Given the description of an element on the screen output the (x, y) to click on. 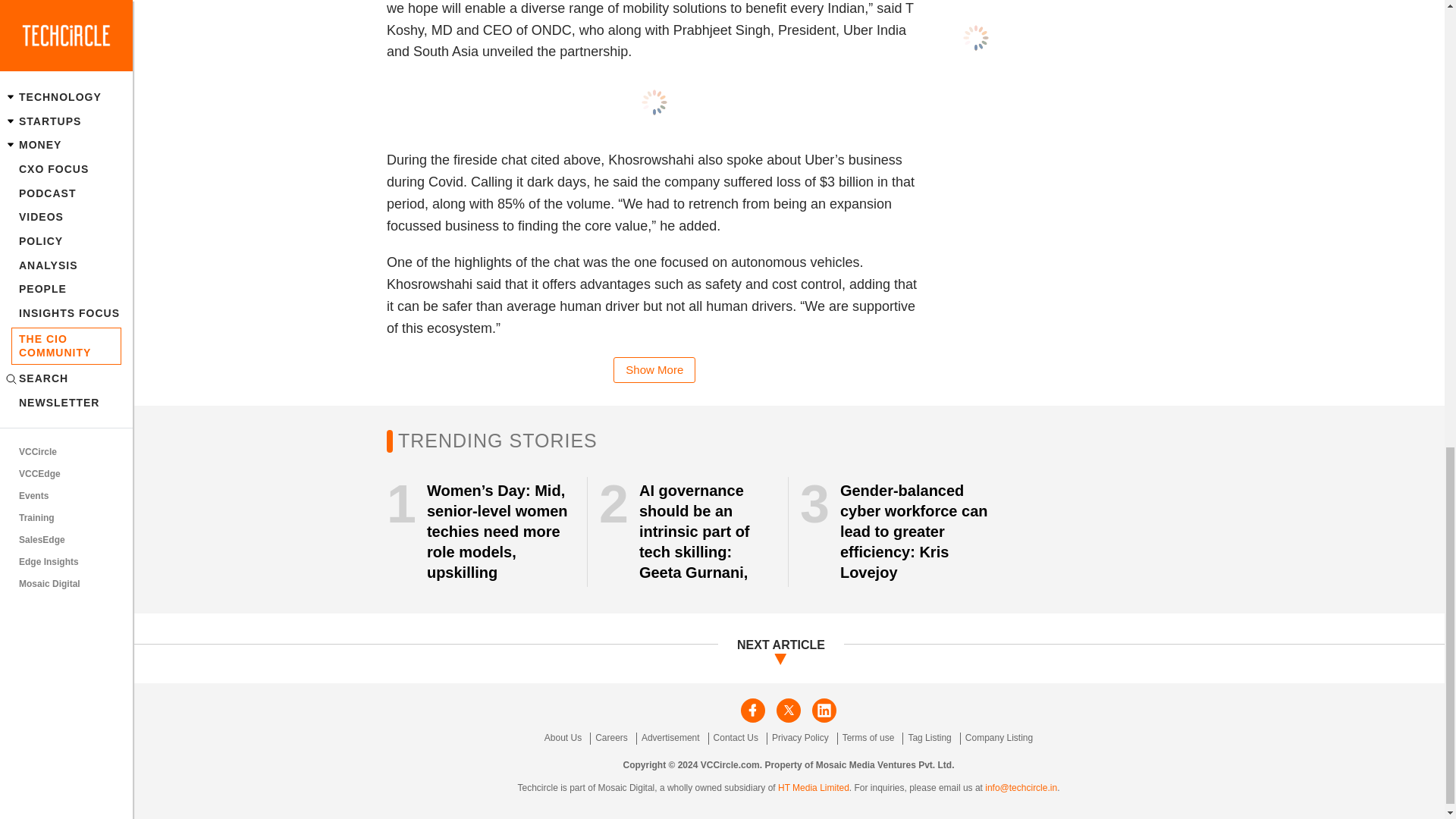
Twitter (427, 361)
Twitter (788, 710)
Linkedin (454, 361)
Whatsapp (481, 361)
Facebook (753, 710)
Linkedin (823, 710)
Facebook (401, 361)
